Given the description of an element on the screen output the (x, y) to click on. 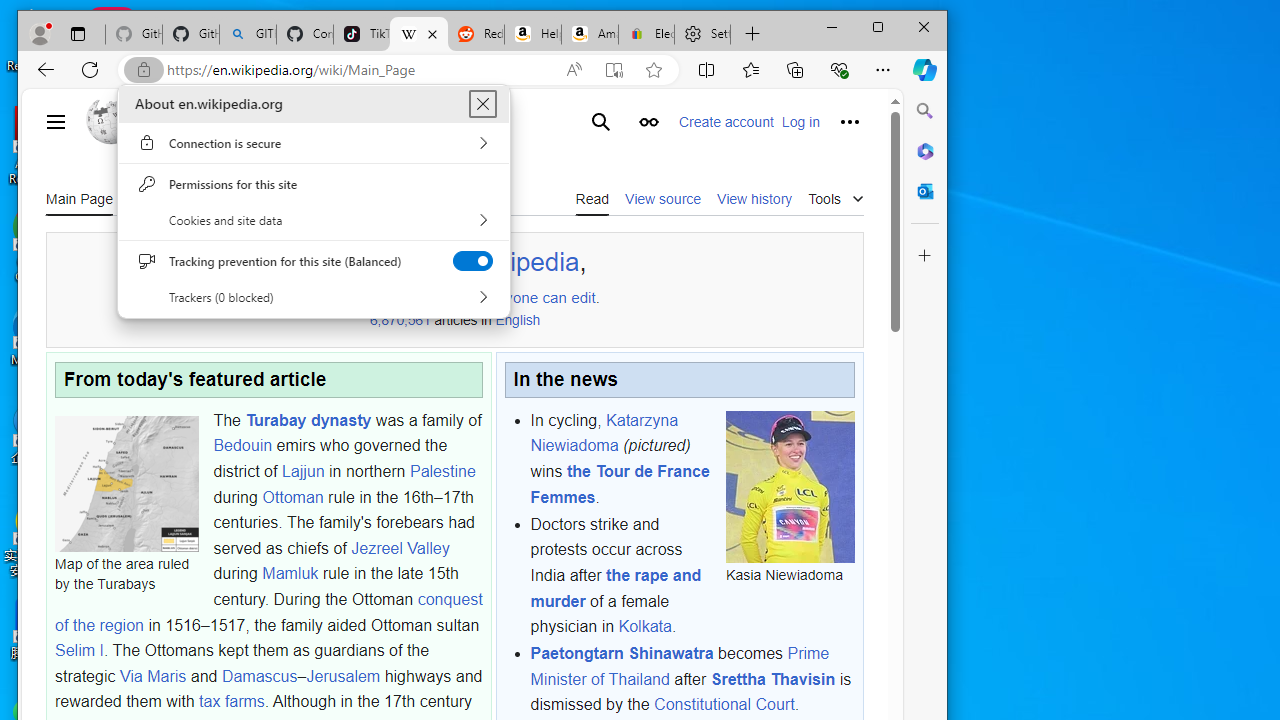
View source (662, 197)
Constitutional Court (724, 705)
Mamluk (290, 574)
Srettha Thavisin (772, 679)
View history (754, 197)
Log in (800, 121)
Connection is secure (314, 143)
